Given the description of an element on the screen output the (x, y) to click on. 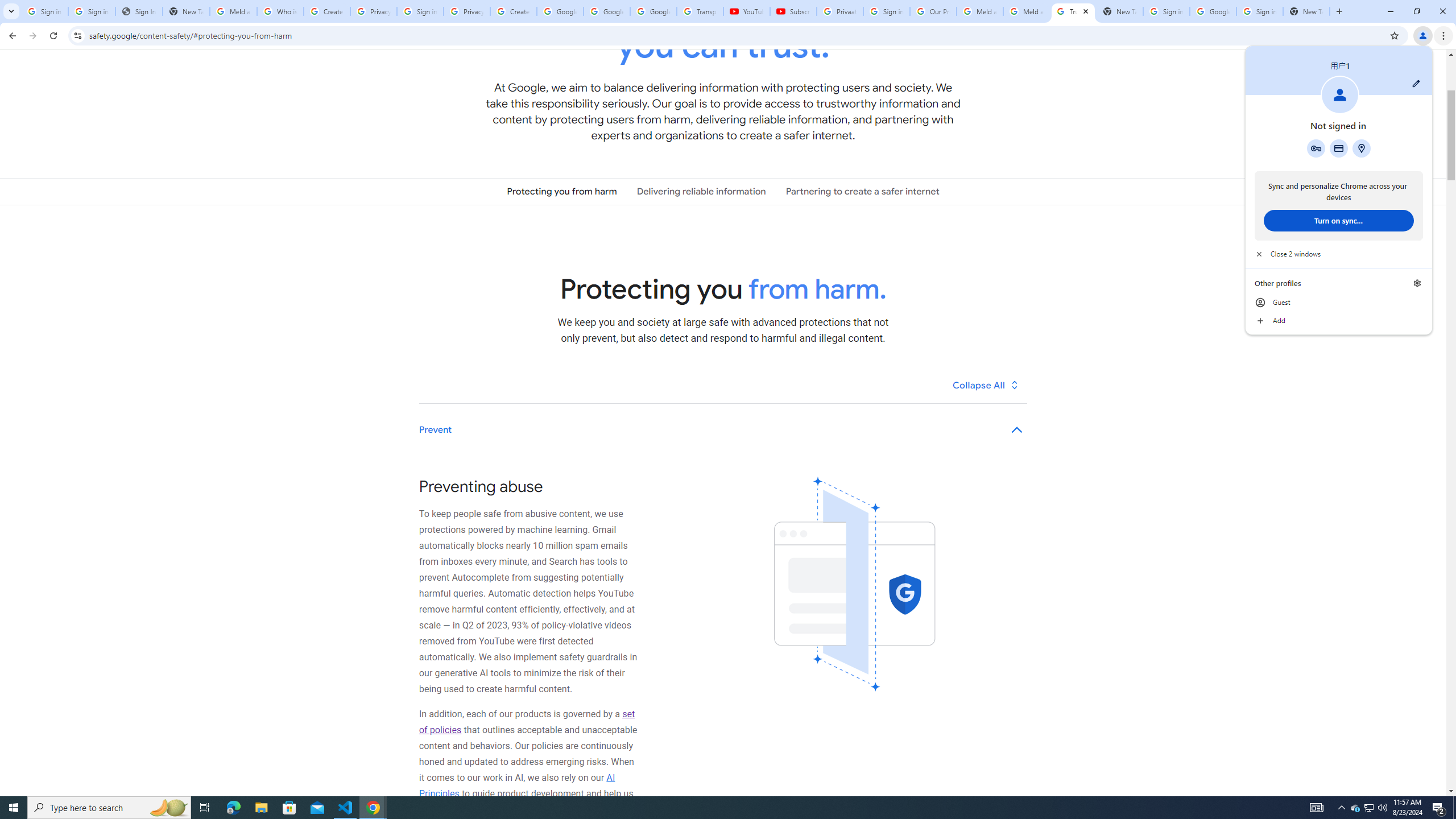
Sign In - USA TODAY (138, 11)
set of policies (526, 721)
AutomationID: 4105 (1316, 807)
Visual Studio Code - 1 running window (345, 807)
Create your Google Account (512, 11)
Running applications (717, 807)
Start (13, 807)
Show desktop (1454, 807)
User Promoted Notification Area (1368, 807)
